Given the description of an element on the screen output the (x, y) to click on. 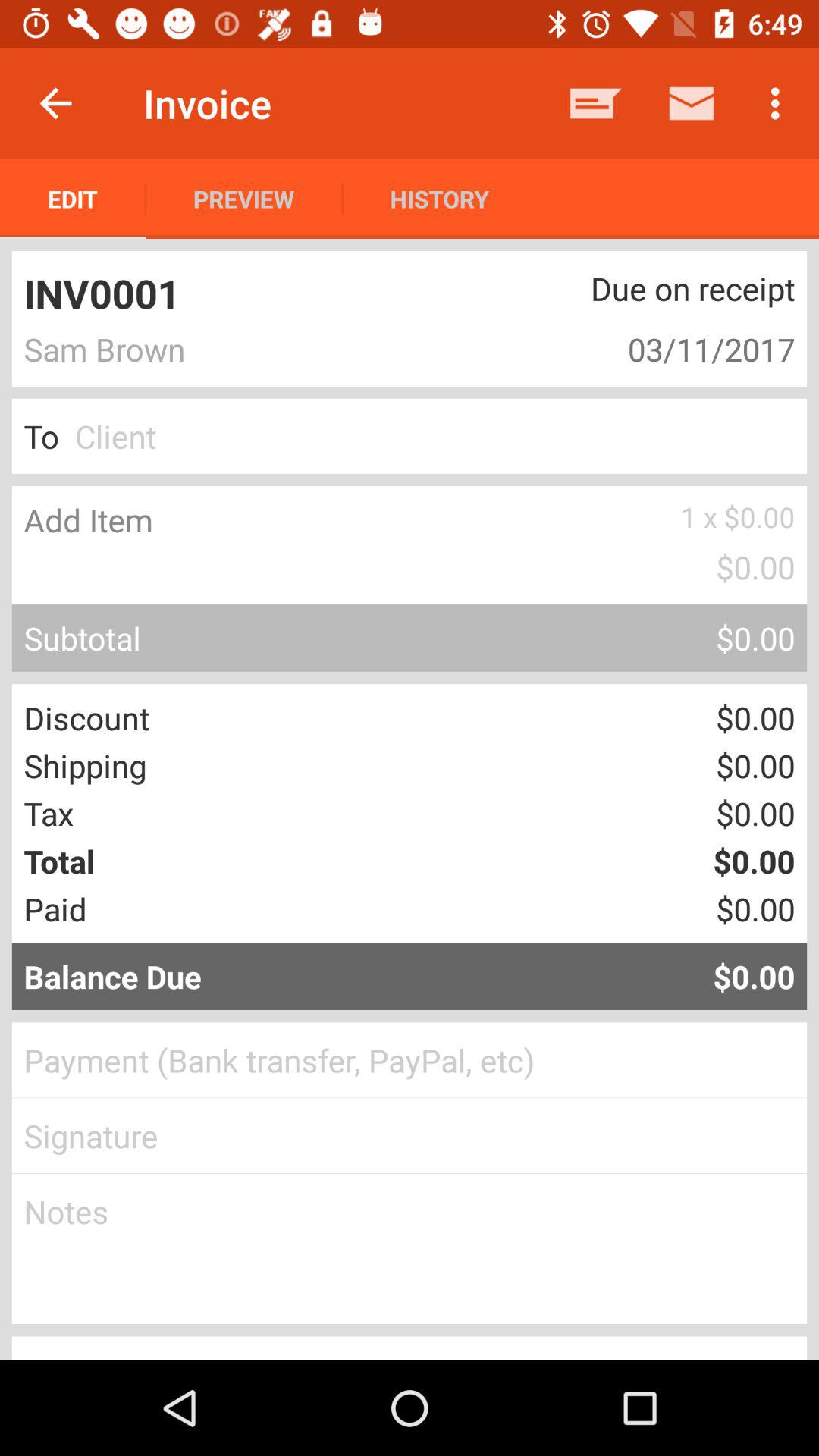
add a note to the invoice (409, 1248)
